Given the description of an element on the screen output the (x, y) to click on. 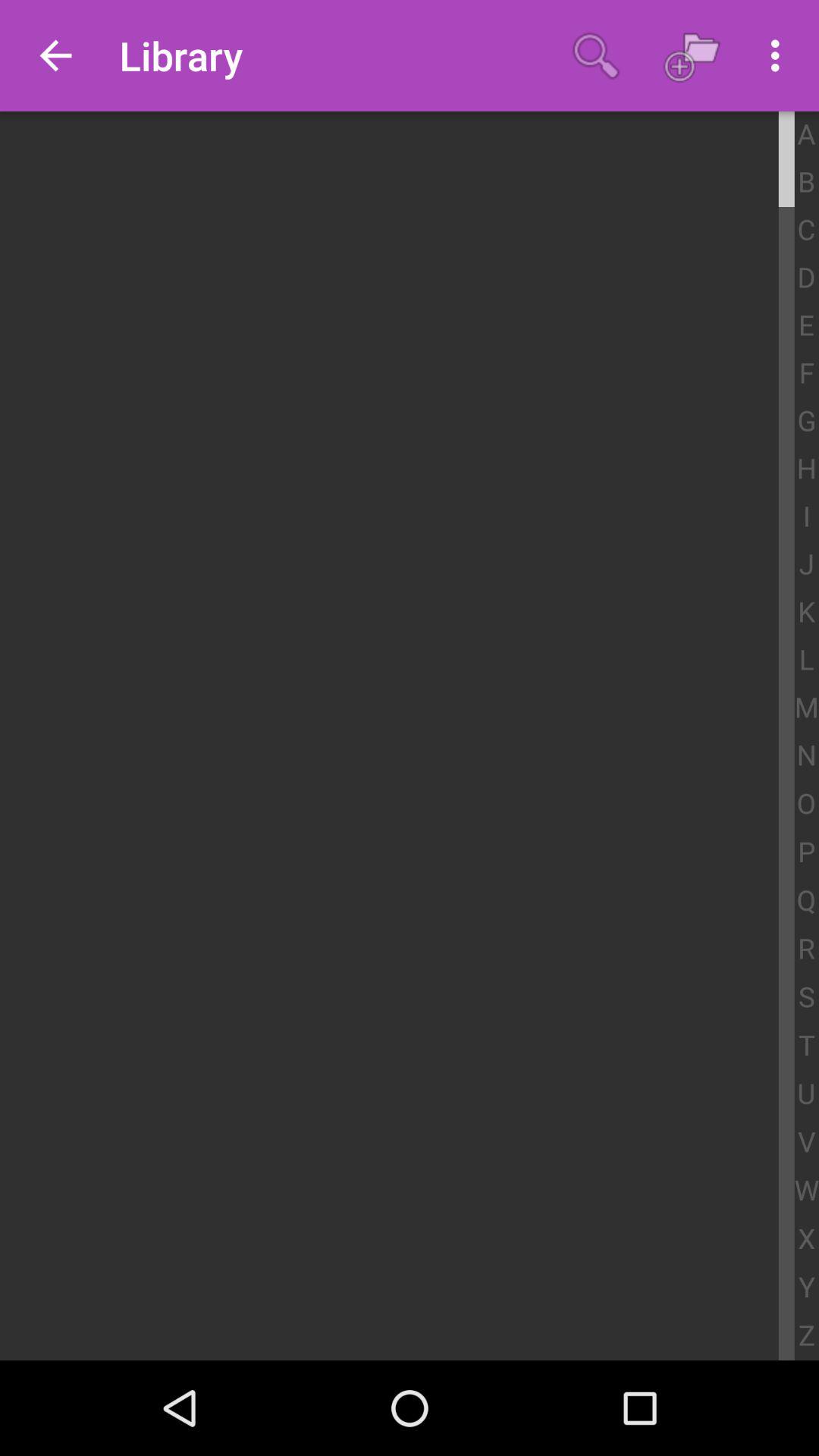
open the item next to the library app (55, 55)
